Given the description of an element on the screen output the (x, y) to click on. 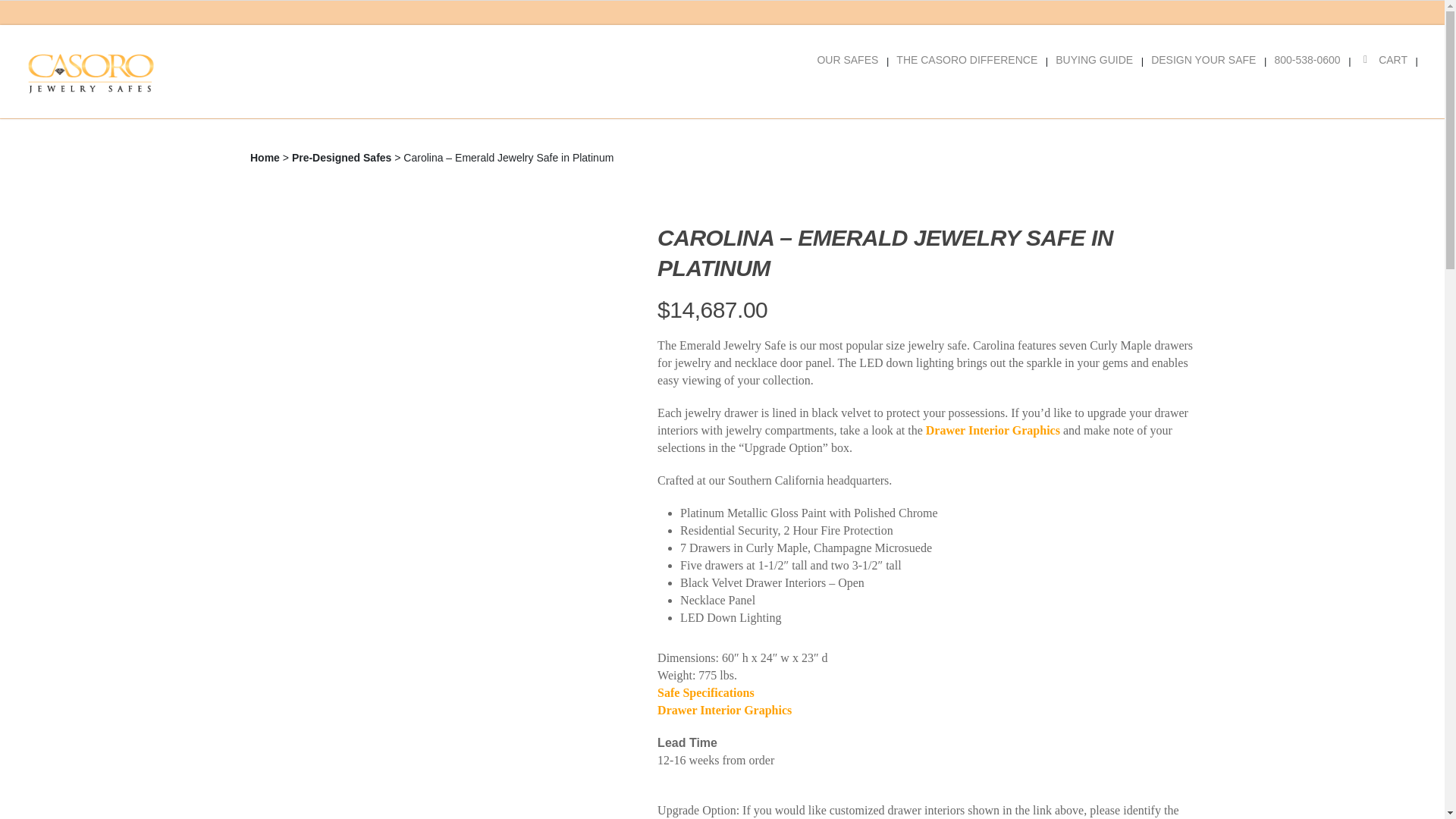
THE CASORO DIFFERENCE (971, 84)
BUYING GUIDE (1099, 84)
OUR SAFES (852, 84)
